Given the description of an element on the screen output the (x, y) to click on. 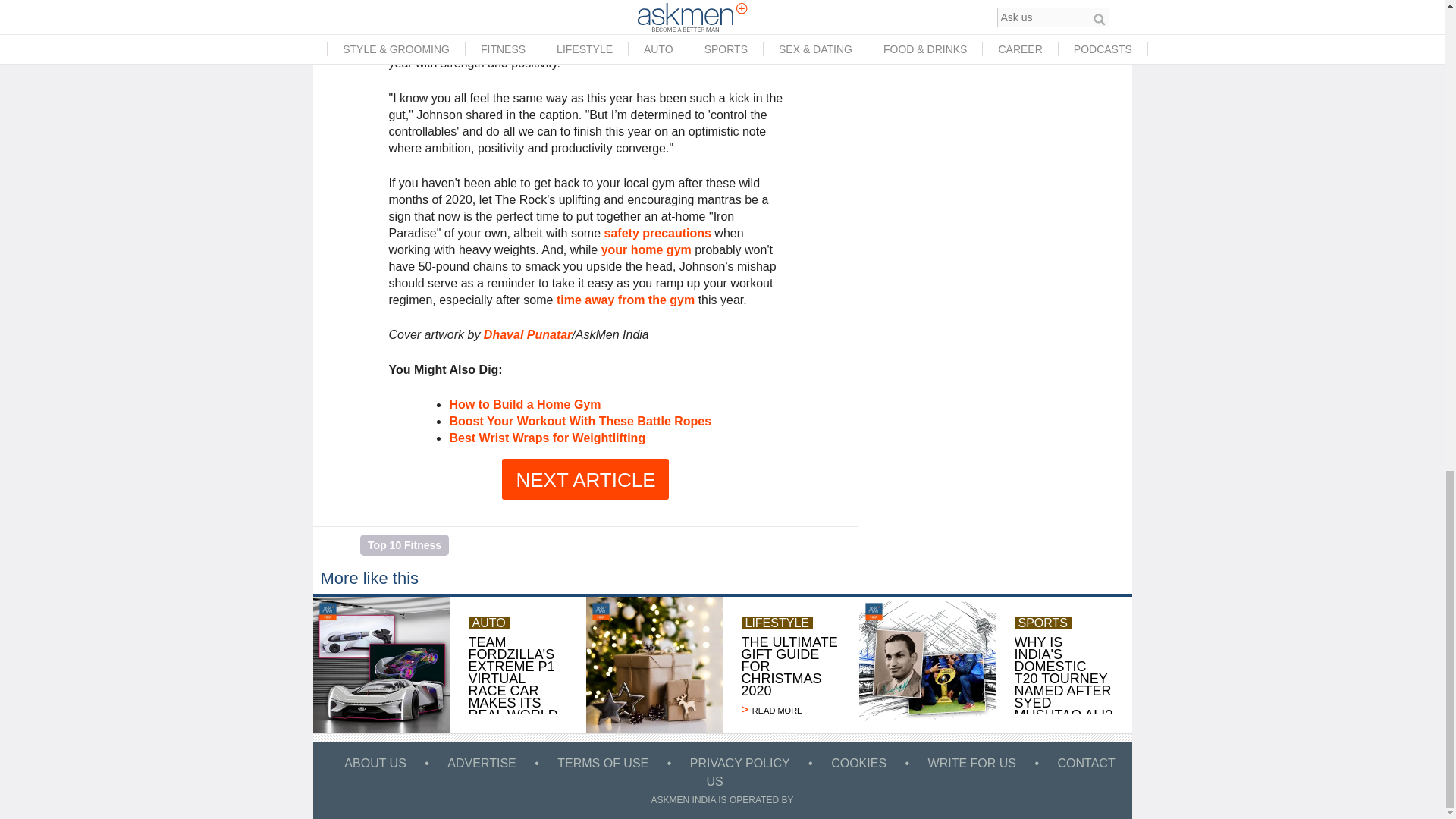
The Ultimate Gift Guide For Christmas 2020 (790, 709)
time away from the gym (625, 299)
recent post (479, 46)
The Ultimate Gift Guide For Christmas 2020 (653, 665)
safety precautions (657, 232)
your home gym (646, 249)
